Given the description of an element on the screen output the (x, y) to click on. 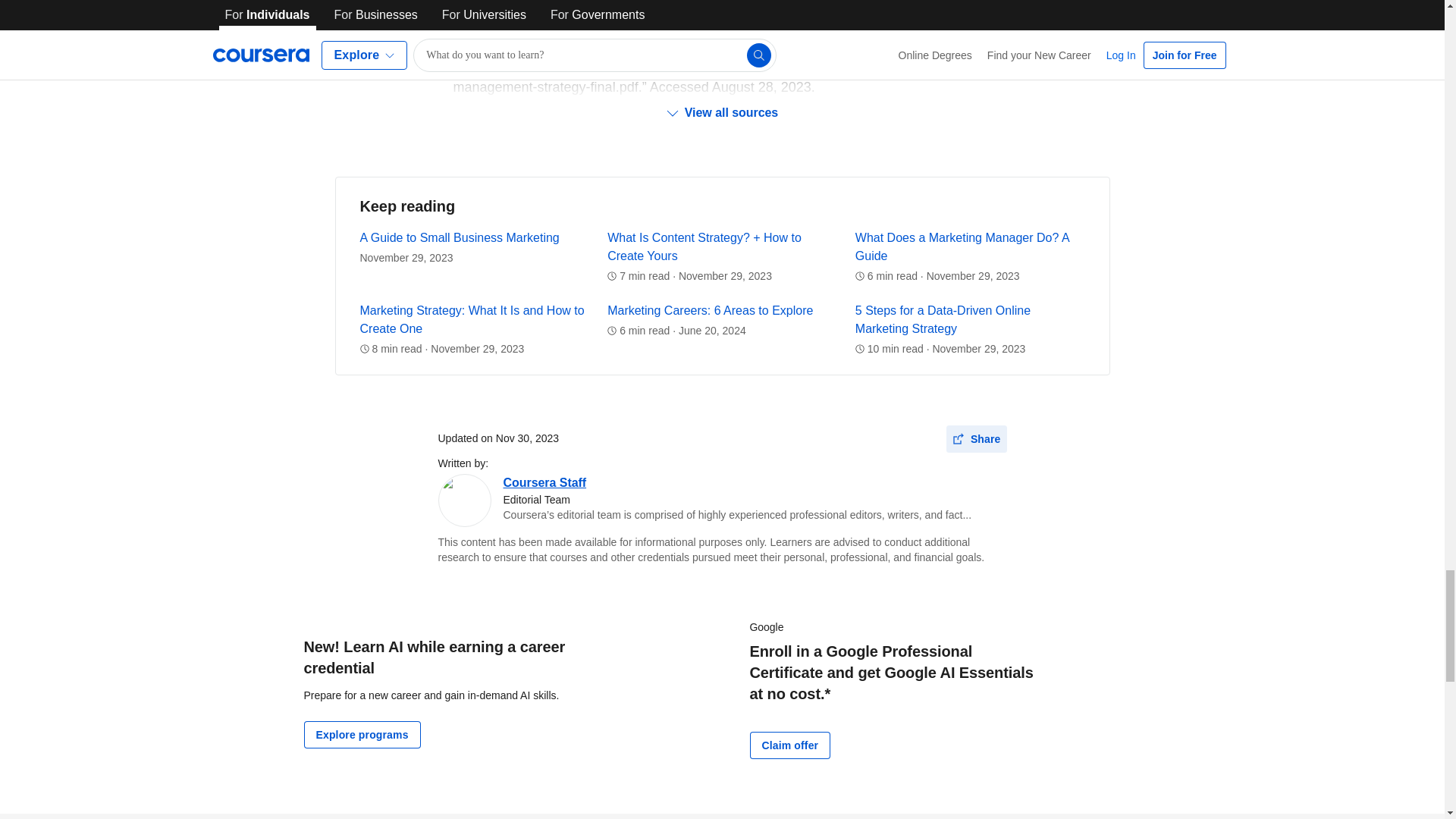
What Does a Marketing Manager Do? A Guide (962, 246)
Marketing Strategy: What It Is and How to Create One (471, 318)
View all sources (722, 112)
A Guide to Small Business Marketing (459, 237)
